Given the description of an element on the screen output the (x, y) to click on. 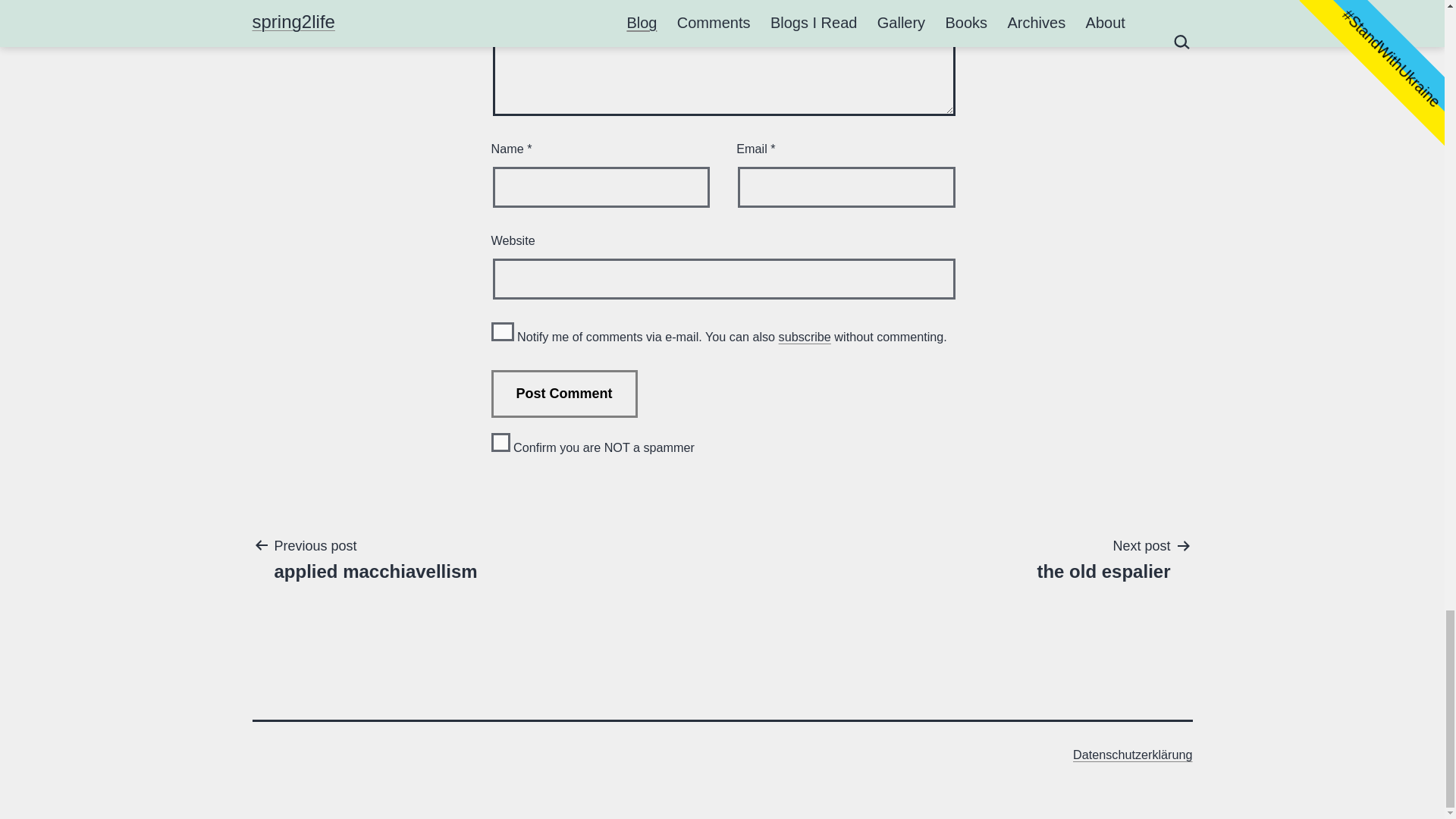
Post Comment (564, 393)
on (501, 442)
yes (502, 331)
Post Comment (1103, 558)
subscribe (564, 393)
